Given the description of an element on the screen output the (x, y) to click on. 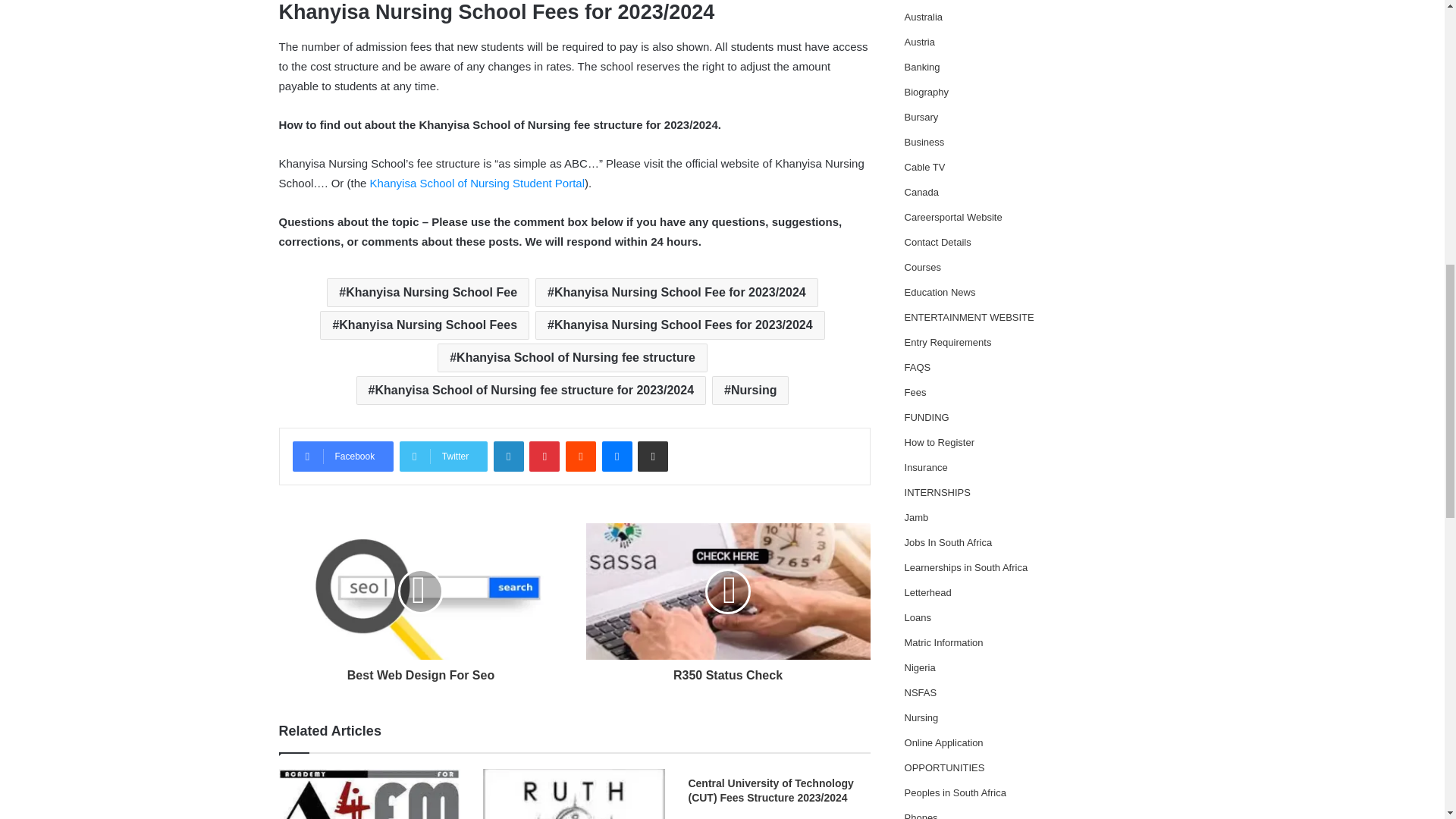
Khanyisa School of Nursing Student Portal (477, 182)
Twitter (442, 456)
Messenger (616, 456)
Share via Email (652, 456)
R350 Status Check (727, 671)
Pinterest (544, 456)
Share via Email (652, 456)
Khanyisa Nursing School Fee (427, 292)
Messenger (616, 456)
Reddit (580, 456)
